Given the description of an element on the screen output the (x, y) to click on. 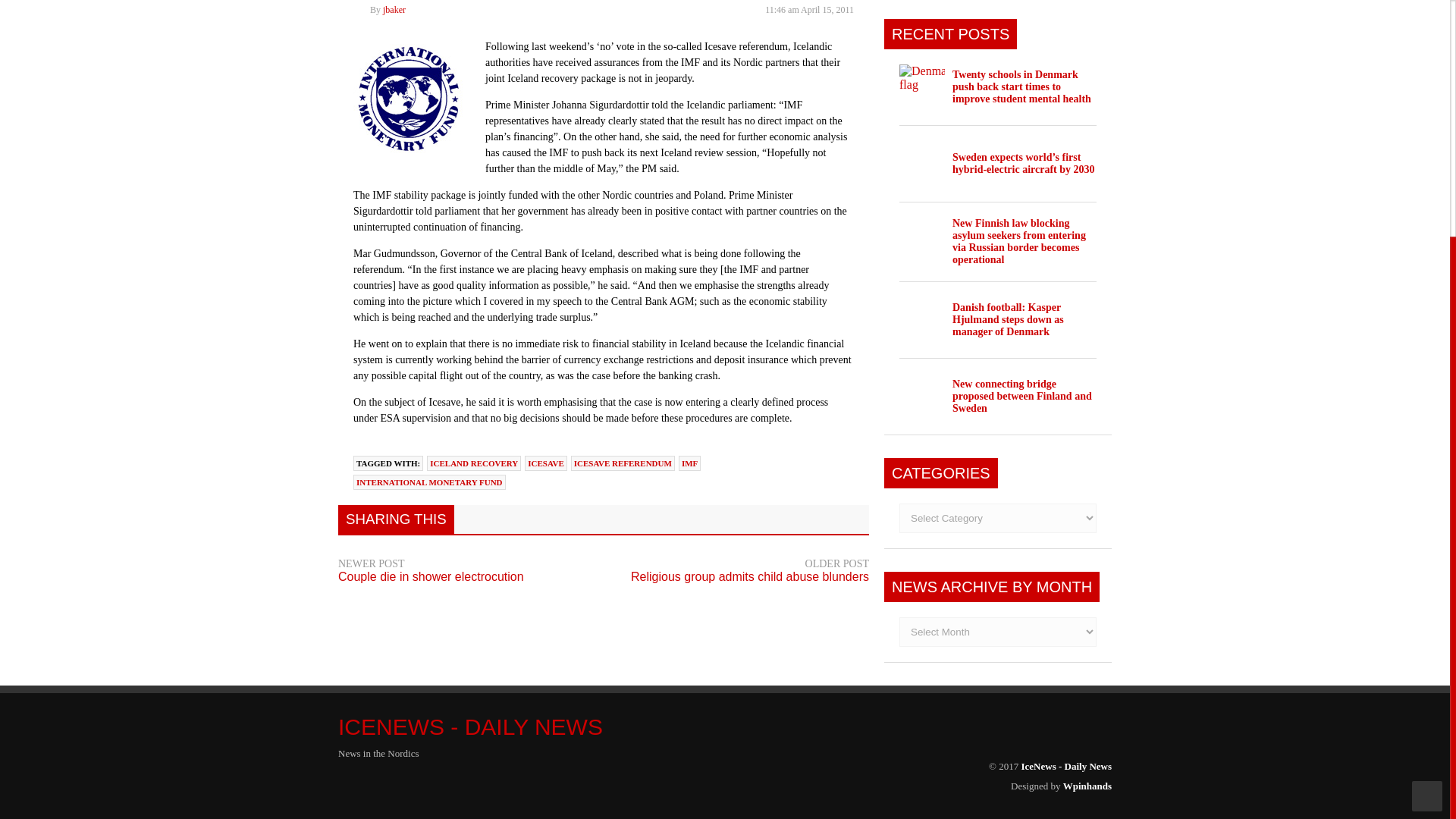
Posts by jbaker (394, 9)
Click to read (921, 86)
Scroll (1427, 463)
Click to read (921, 163)
Click to read (1021, 86)
